Given the description of an element on the screen output the (x, y) to click on. 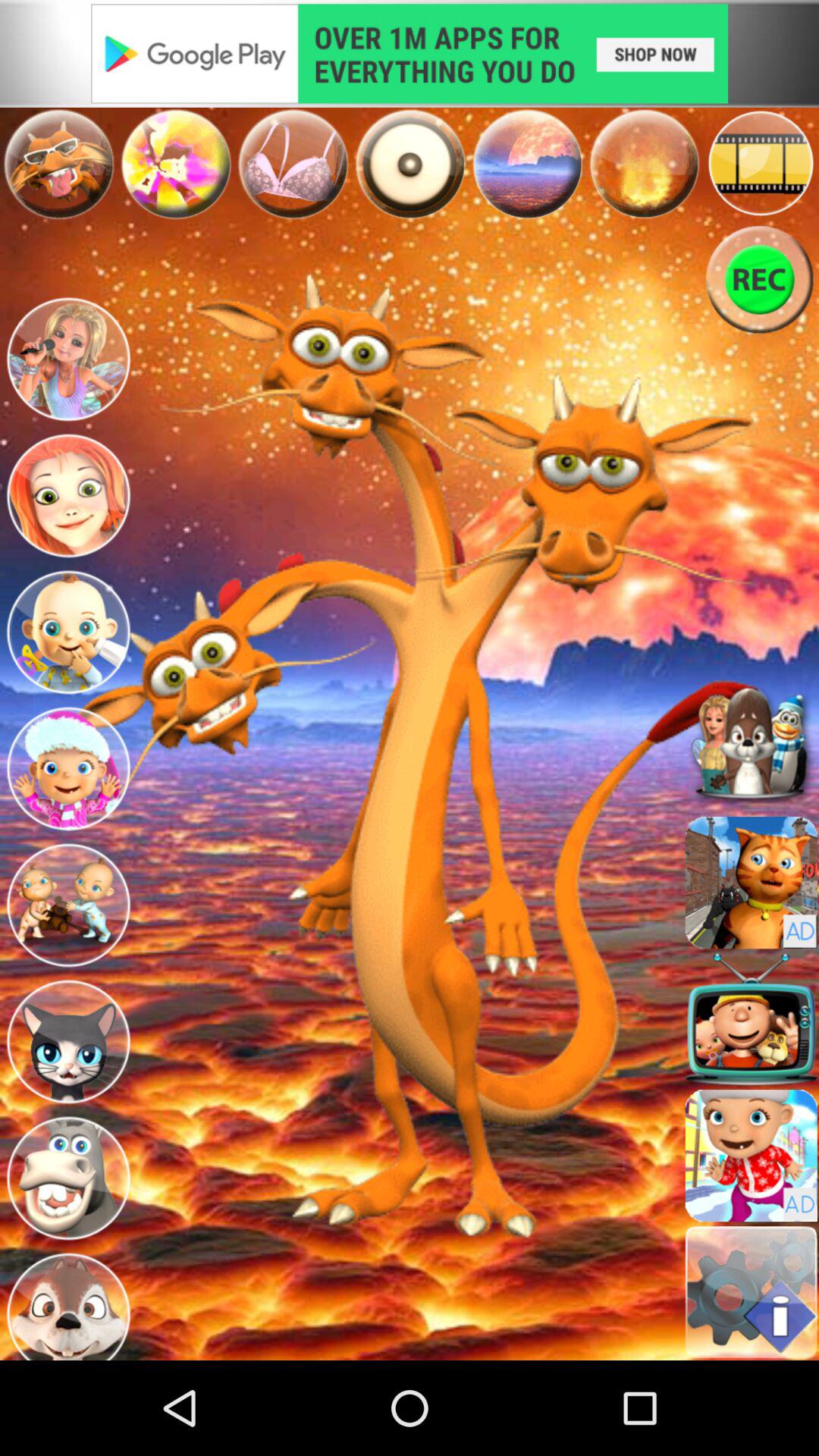
select character (68, 632)
